Given the description of an element on the screen output the (x, y) to click on. 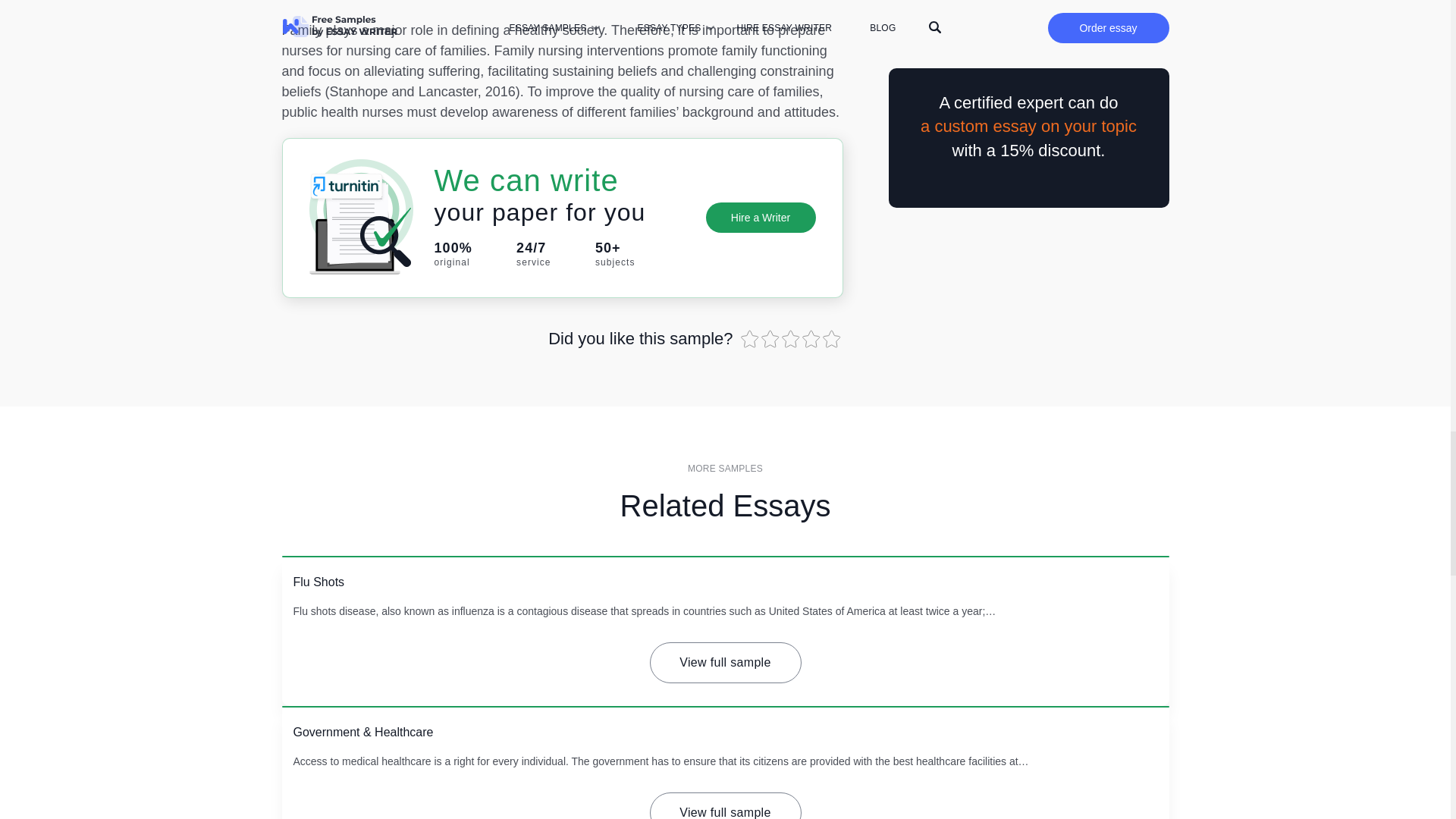
26 votes, average: 4.7 out of 5 (771, 339)
26 votes, average: 4.7 out of 5 (812, 339)
26 votes, average: 4.7 out of 5 (832, 339)
Flu Shots (317, 581)
26 votes, average: 4.7 out of 5 (791, 339)
26 votes, average: 4.7 out of 5 (749, 339)
